Given the description of an element on the screen output the (x, y) to click on. 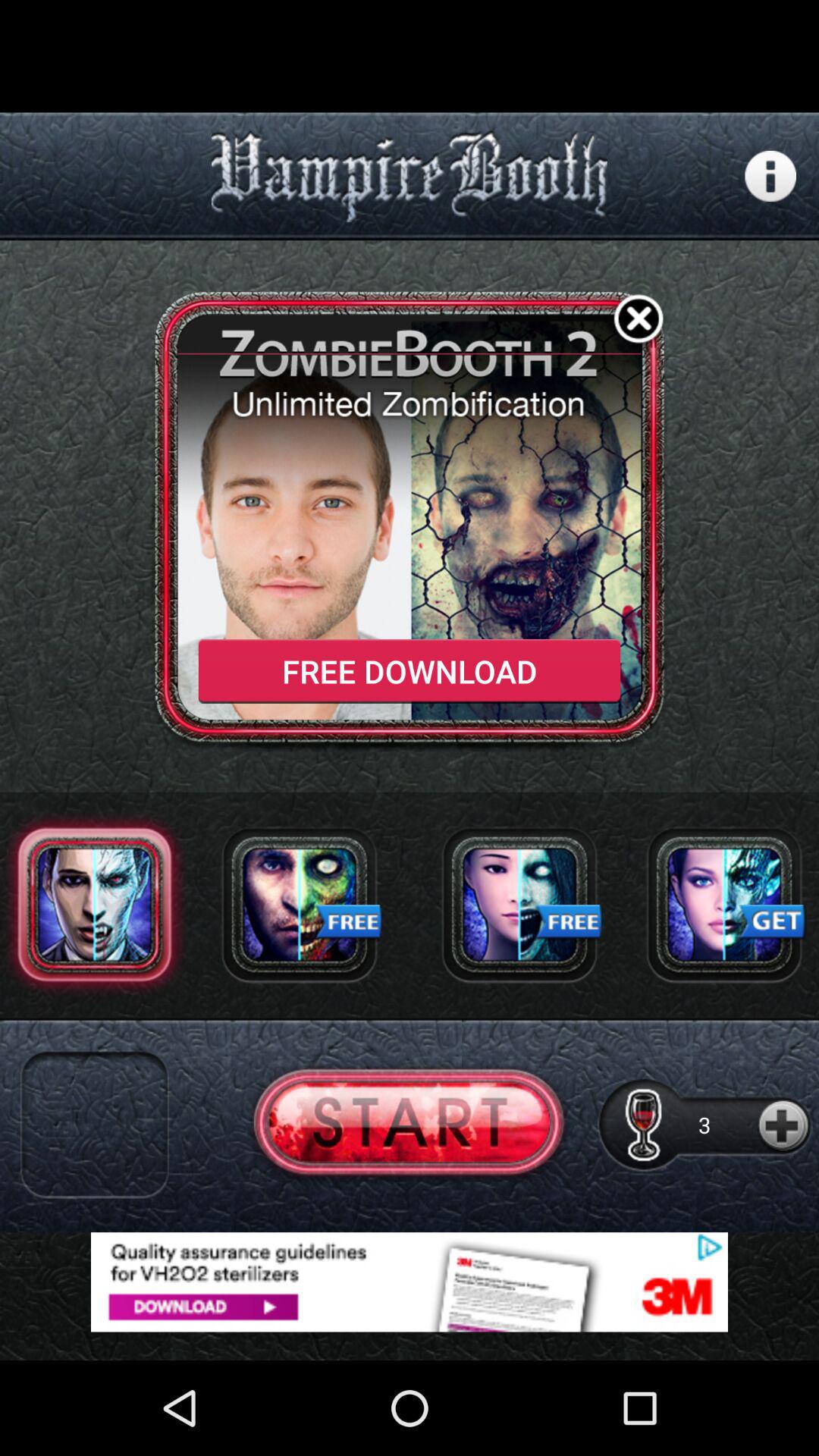
close the option (638, 321)
